Given the description of an element on the screen output the (x, y) to click on. 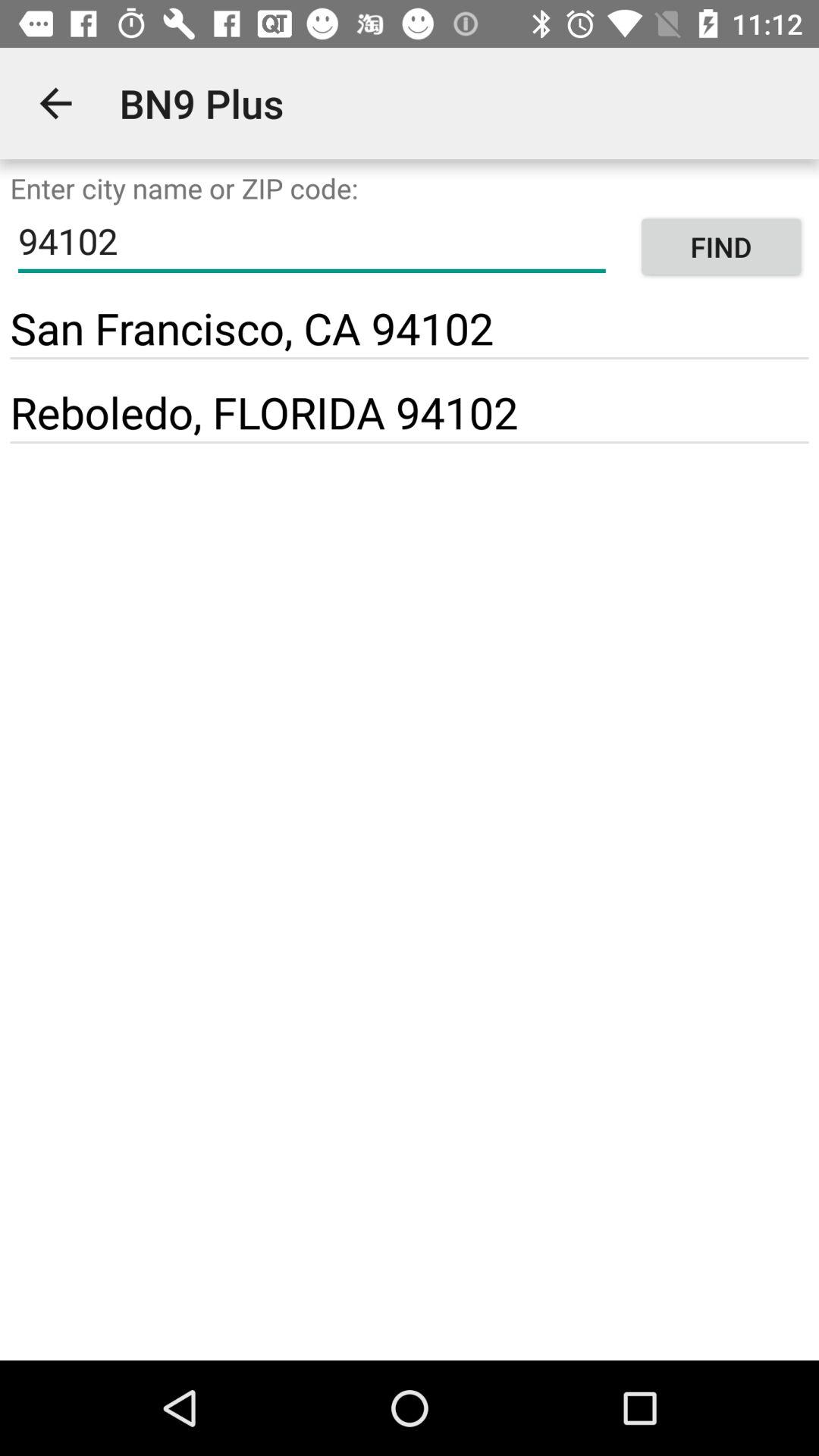
flip until san francisco ca (251, 327)
